Given the description of an element on the screen output the (x, y) to click on. 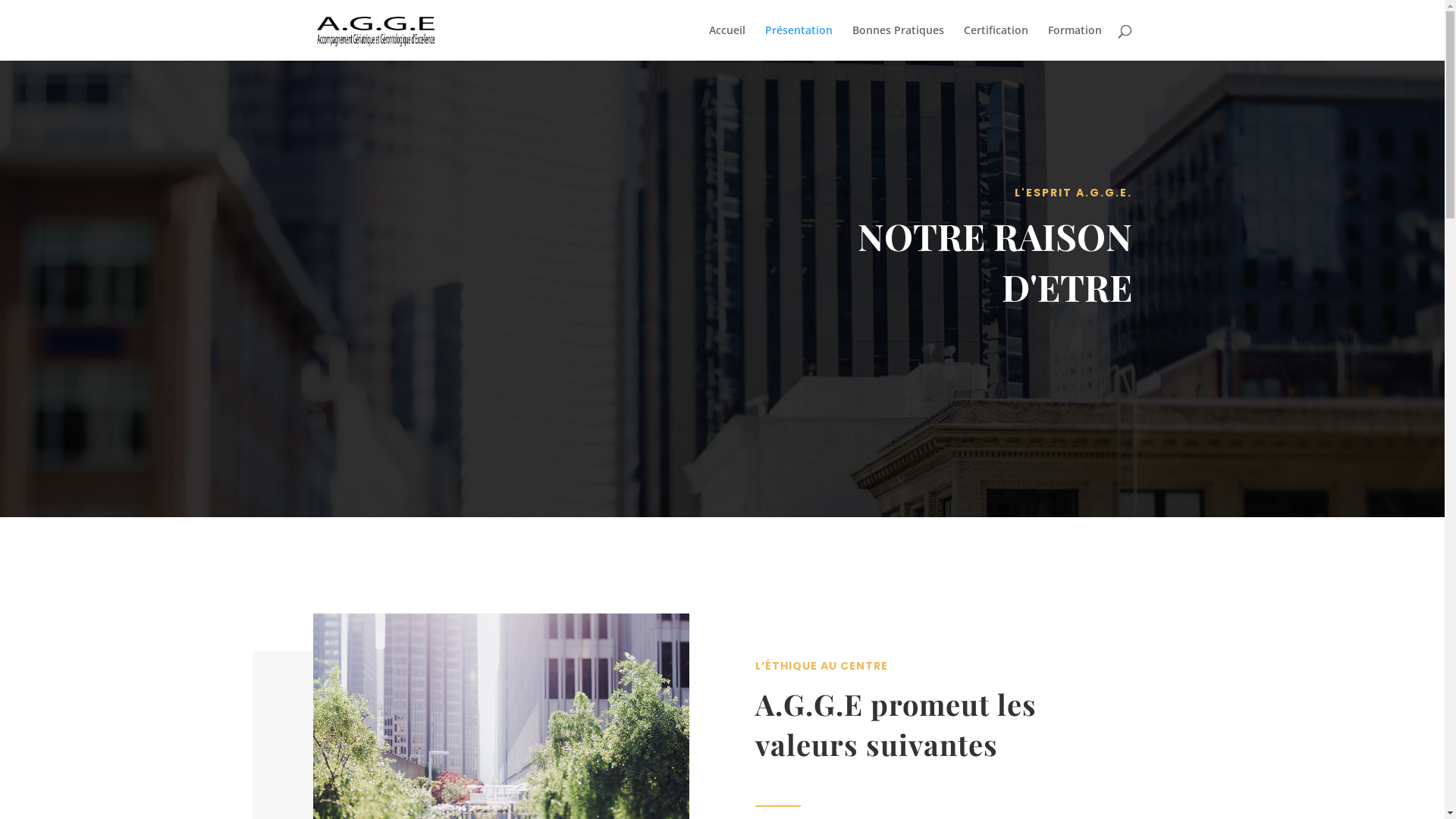
Bonnes Pratiques Element type: text (898, 42)
Certification Element type: text (995, 42)
Accueil Element type: text (726, 42)
Formation Element type: text (1074, 42)
